Given the description of an element on the screen output the (x, y) to click on. 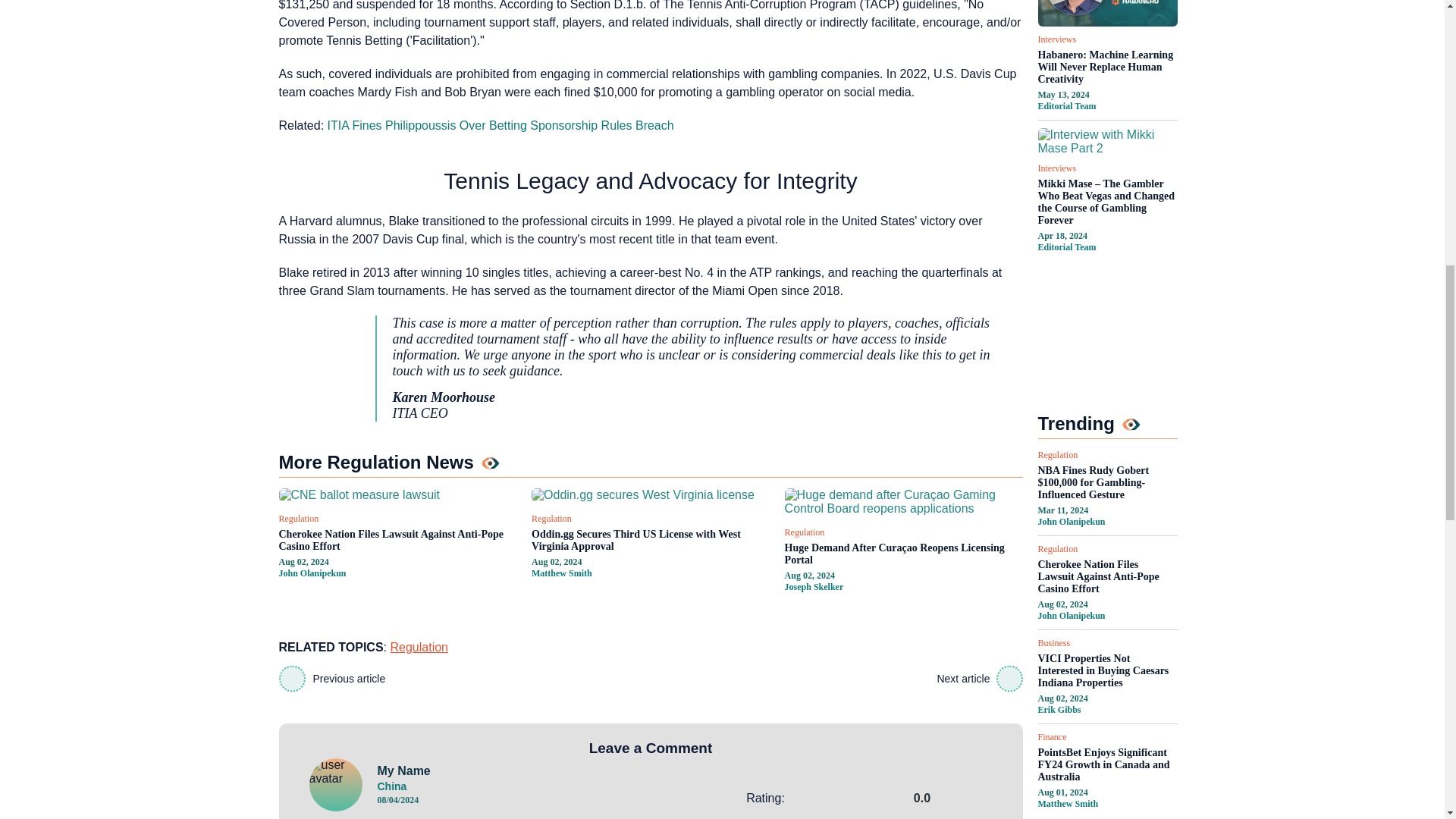
John Olanipekun (312, 573)
